Given the description of an element on the screen output the (x, y) to click on. 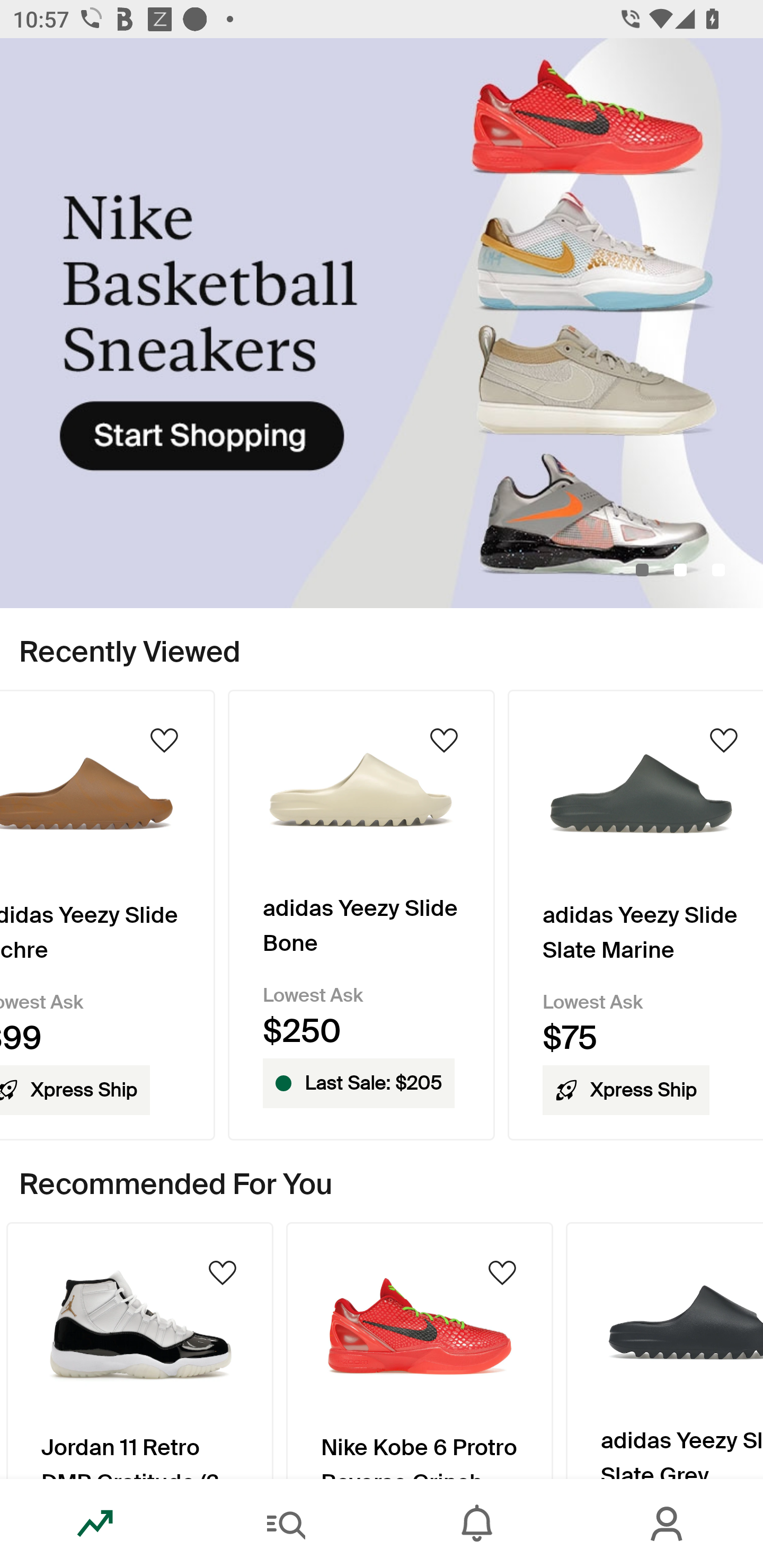
NikeBasketballSprint_Followup_Primary_Mobile.jpg (381, 322)
Product Image Jordan 11 Retro DMP Gratitude (2023) (139, 1349)
Product Image Nike Kobe 6 Protro Reverse Grinch (419, 1349)
Product Image adidas Yeezy Slide Slate Grey (664, 1349)
Search (285, 1523)
Inbox (476, 1523)
Account (667, 1523)
